Given the description of an element on the screen output the (x, y) to click on. 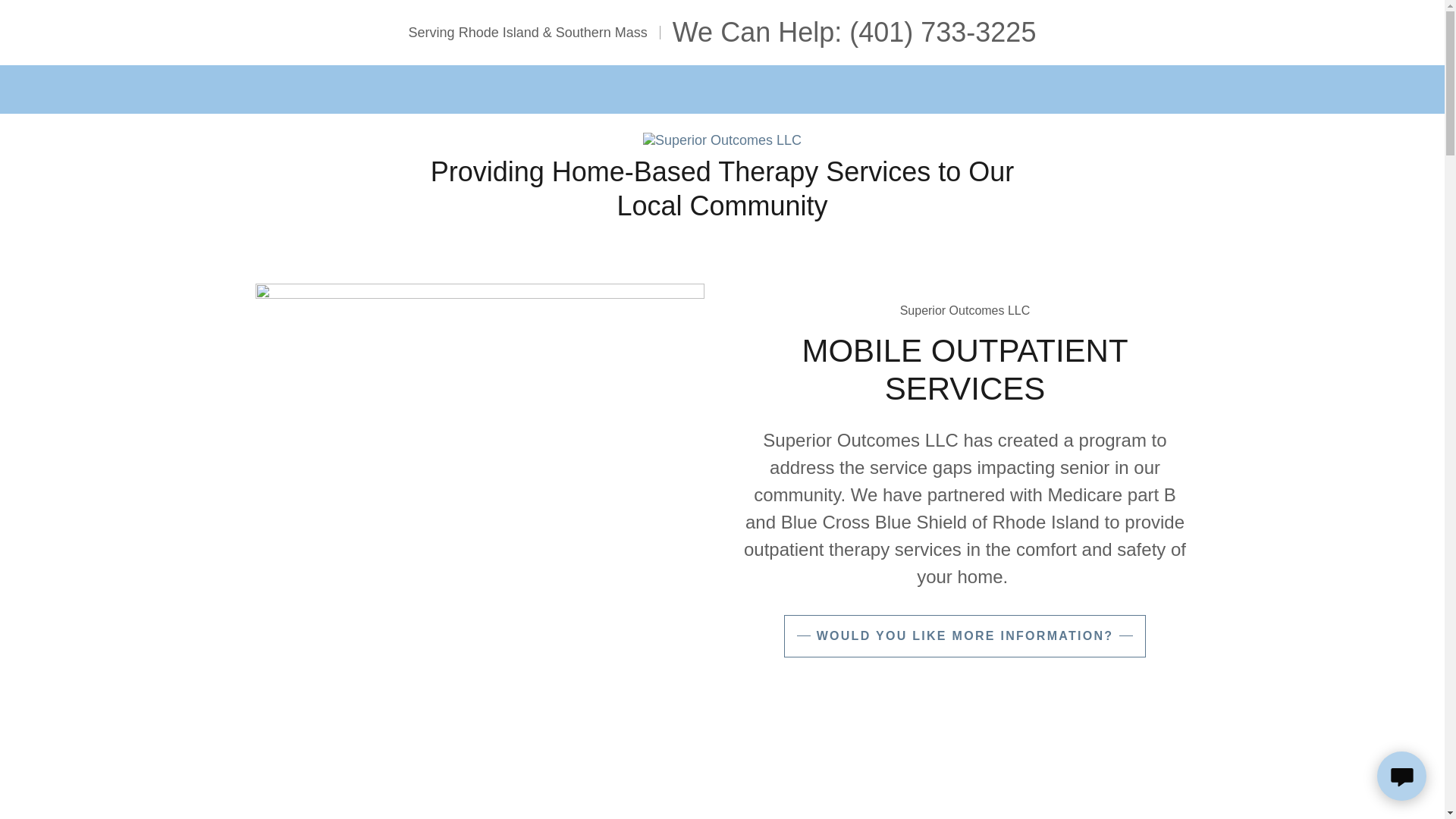
Superior Outcomes LLC (722, 139)
WOULD YOU LIKE MORE INFORMATION? (965, 636)
